Given the description of an element on the screen output the (x, y) to click on. 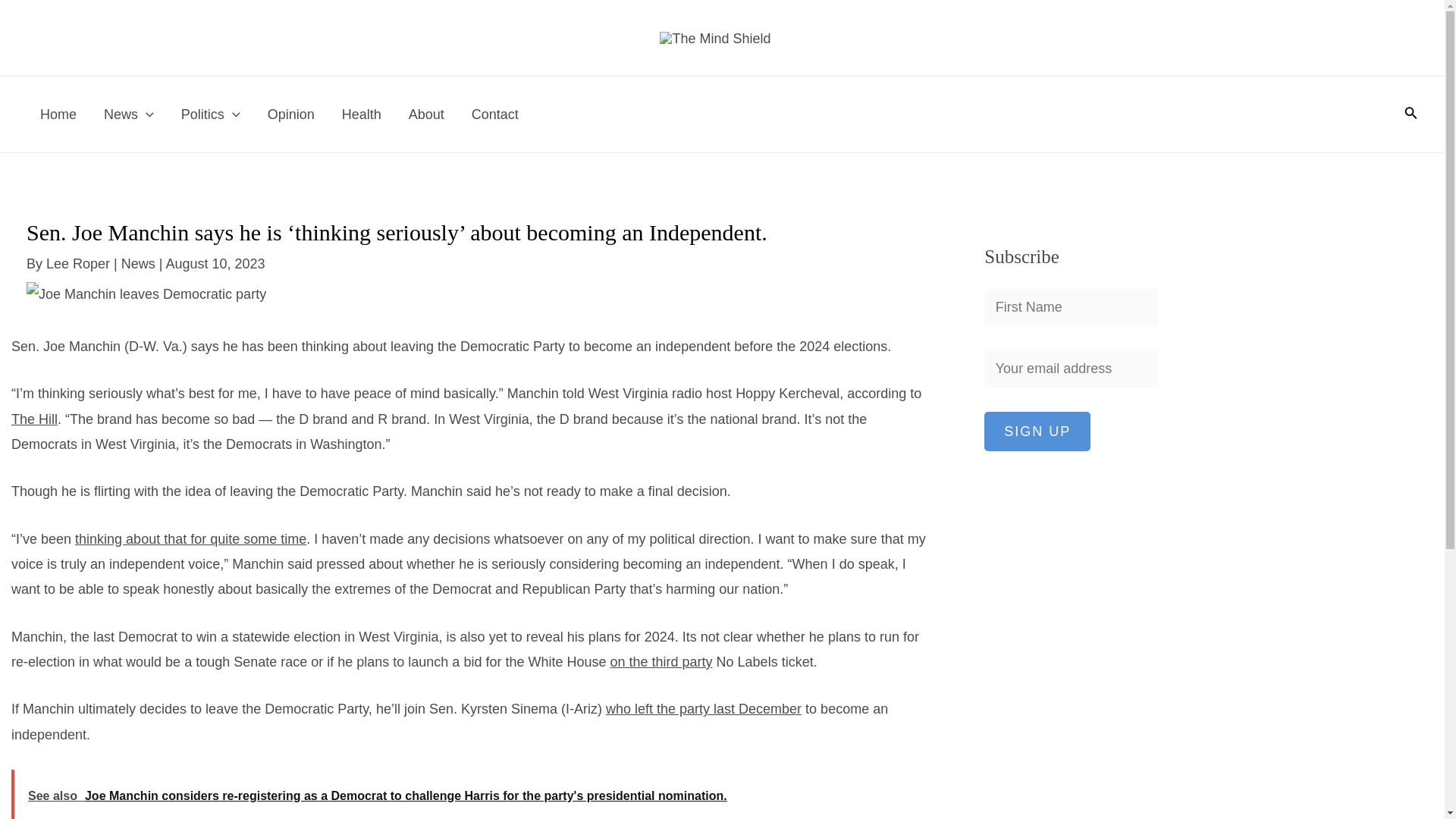
Contact (495, 114)
Lee Roper (79, 263)
The Hill (34, 418)
Sign up (1037, 431)
Politics (210, 114)
thinking about that for quite some time (190, 539)
View all posts by Lee Roper (79, 263)
who left the party last December (703, 708)
Opinion (291, 114)
on the third party (660, 661)
News (128, 114)
News (137, 263)
Sign up (1037, 431)
